Given the description of an element on the screen output the (x, y) to click on. 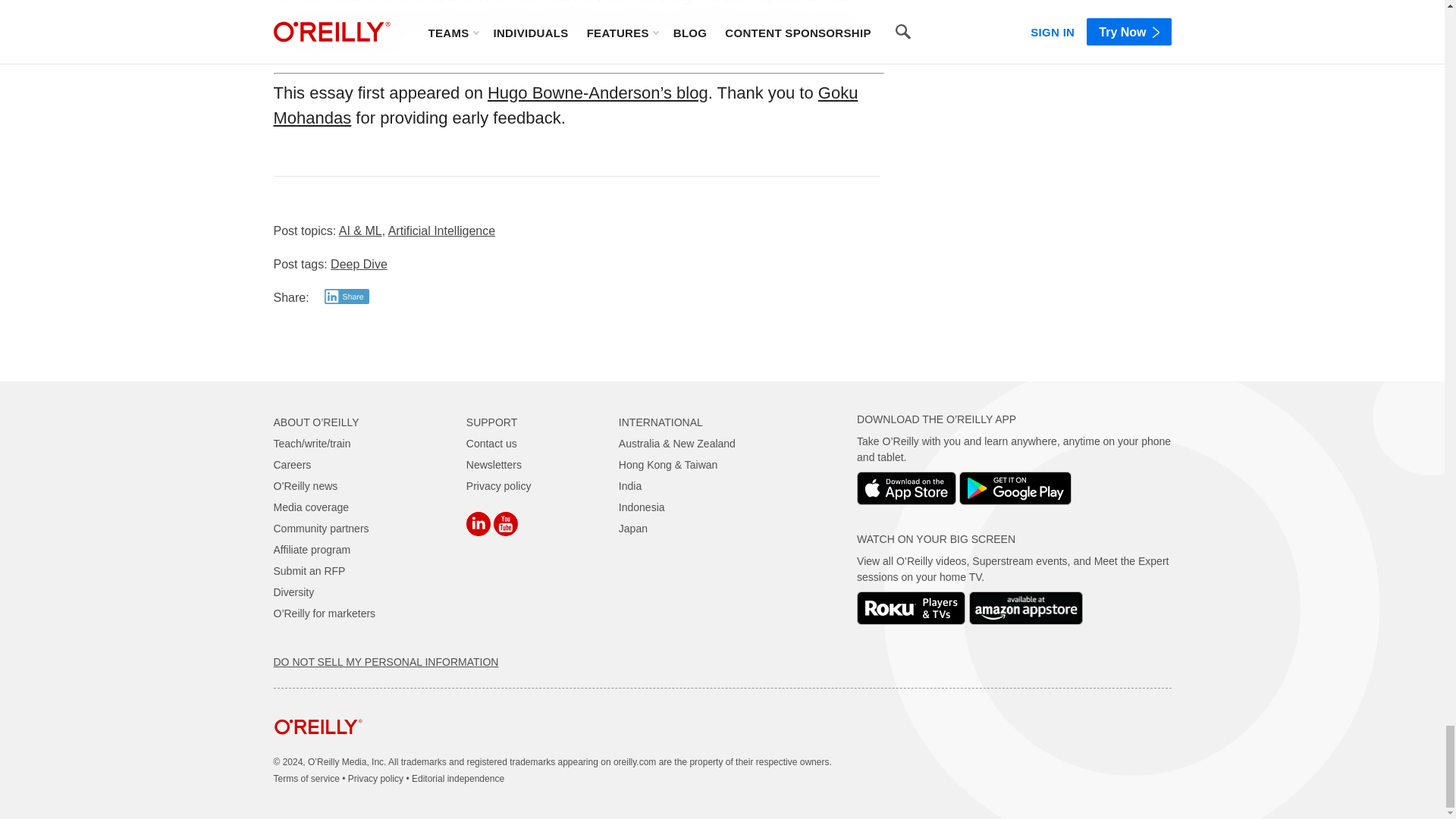
Deep Dive (358, 264)
home page (317, 744)
Artificial Intelligence (441, 230)
